Given the description of an element on the screen output the (x, y) to click on. 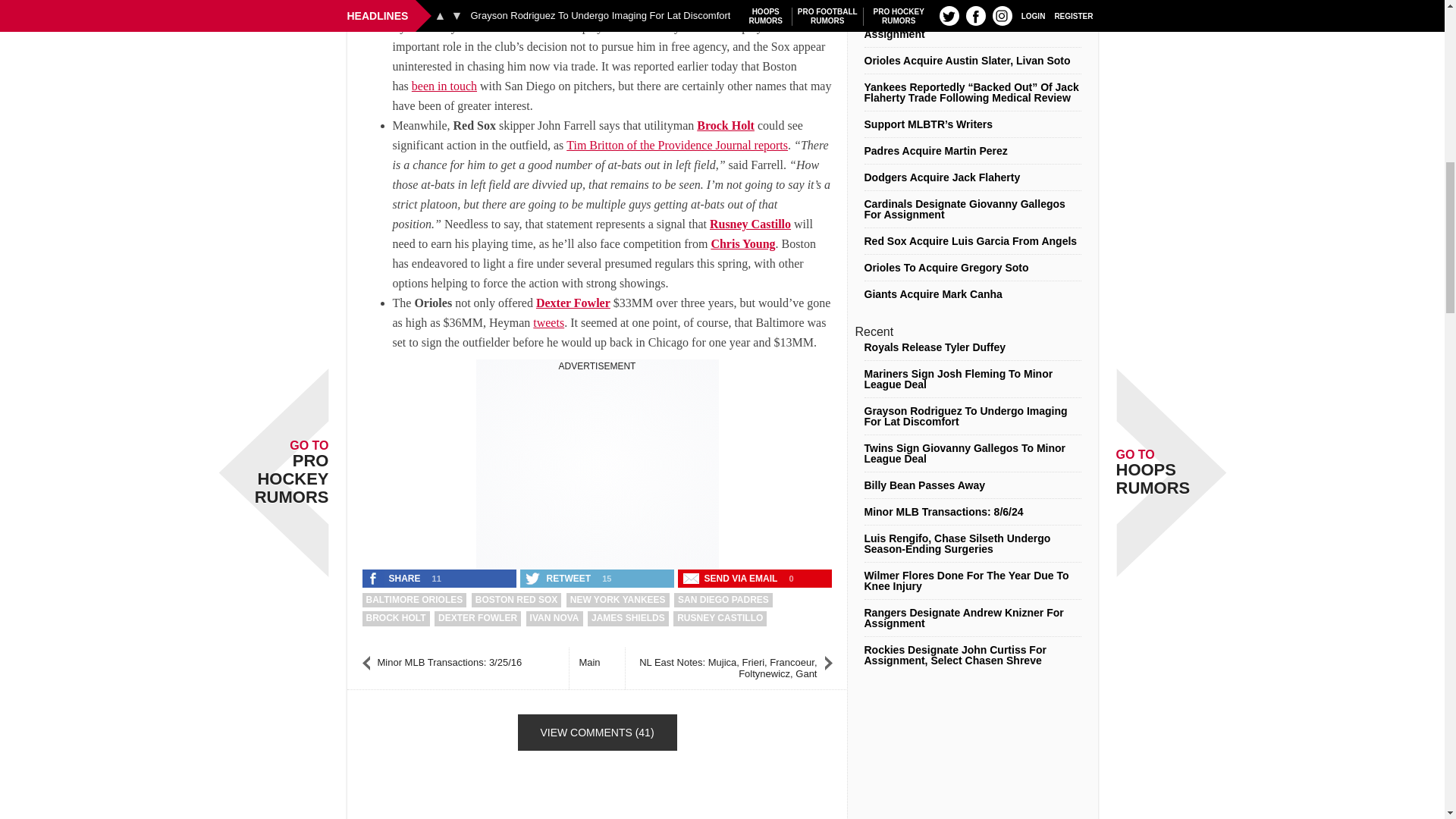
3rd party ad content (597, 466)
